Given the description of an element on the screen output the (x, y) to click on. 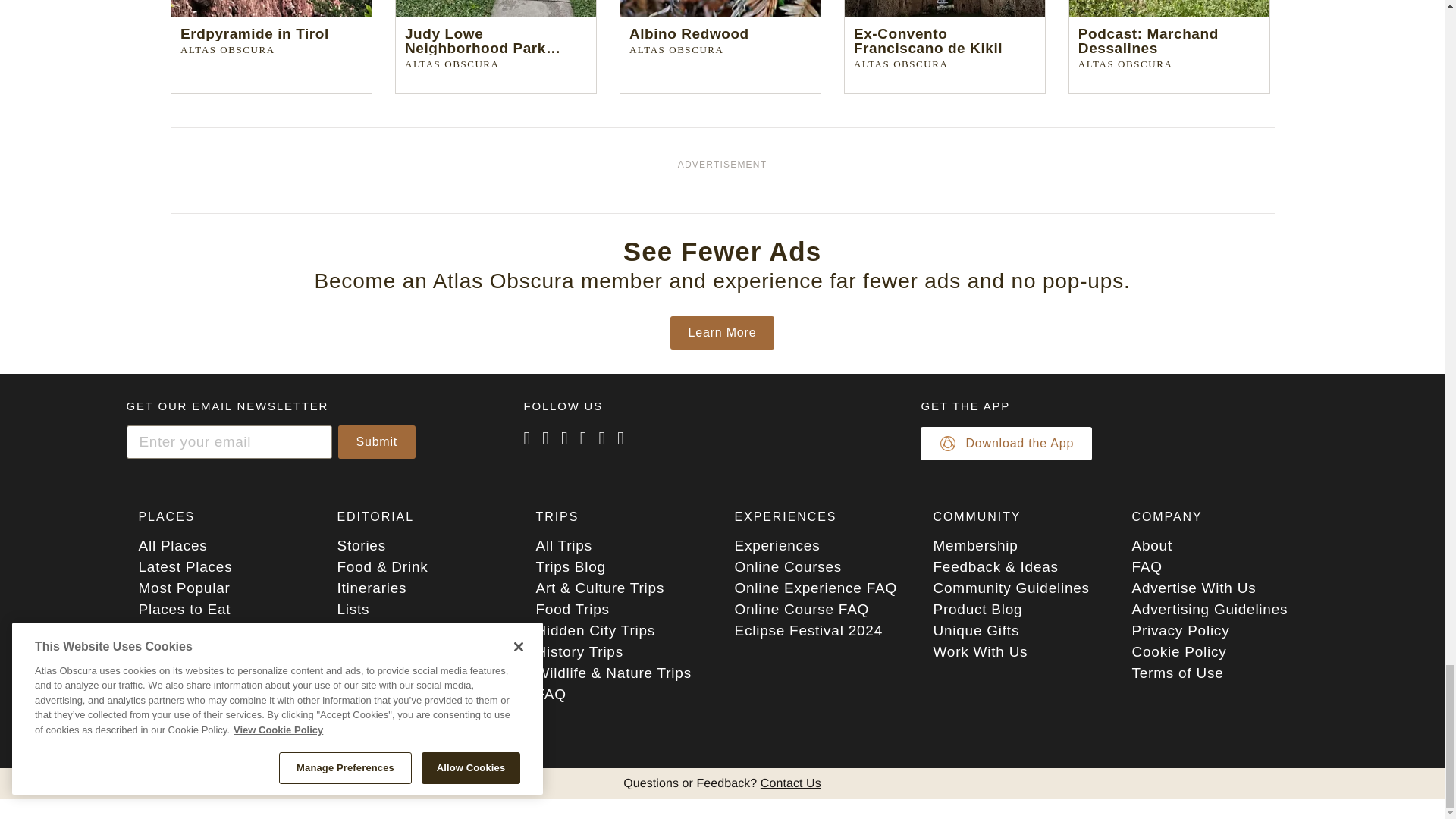
Submit (376, 441)
